Given the description of an element on the screen output the (x, y) to click on. 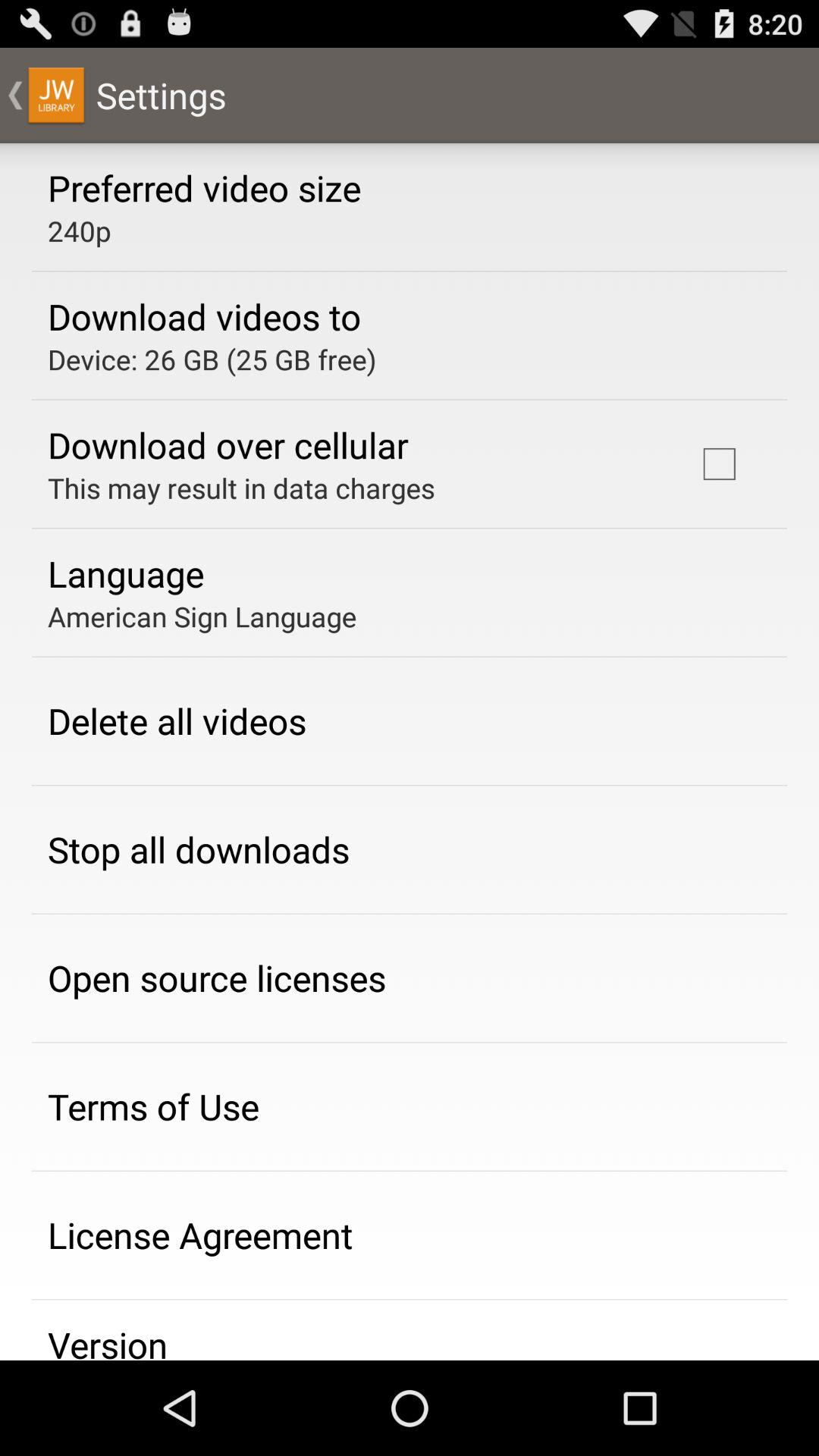
press app next to this may result item (719, 463)
